Given the description of an element on the screen output the (x, y) to click on. 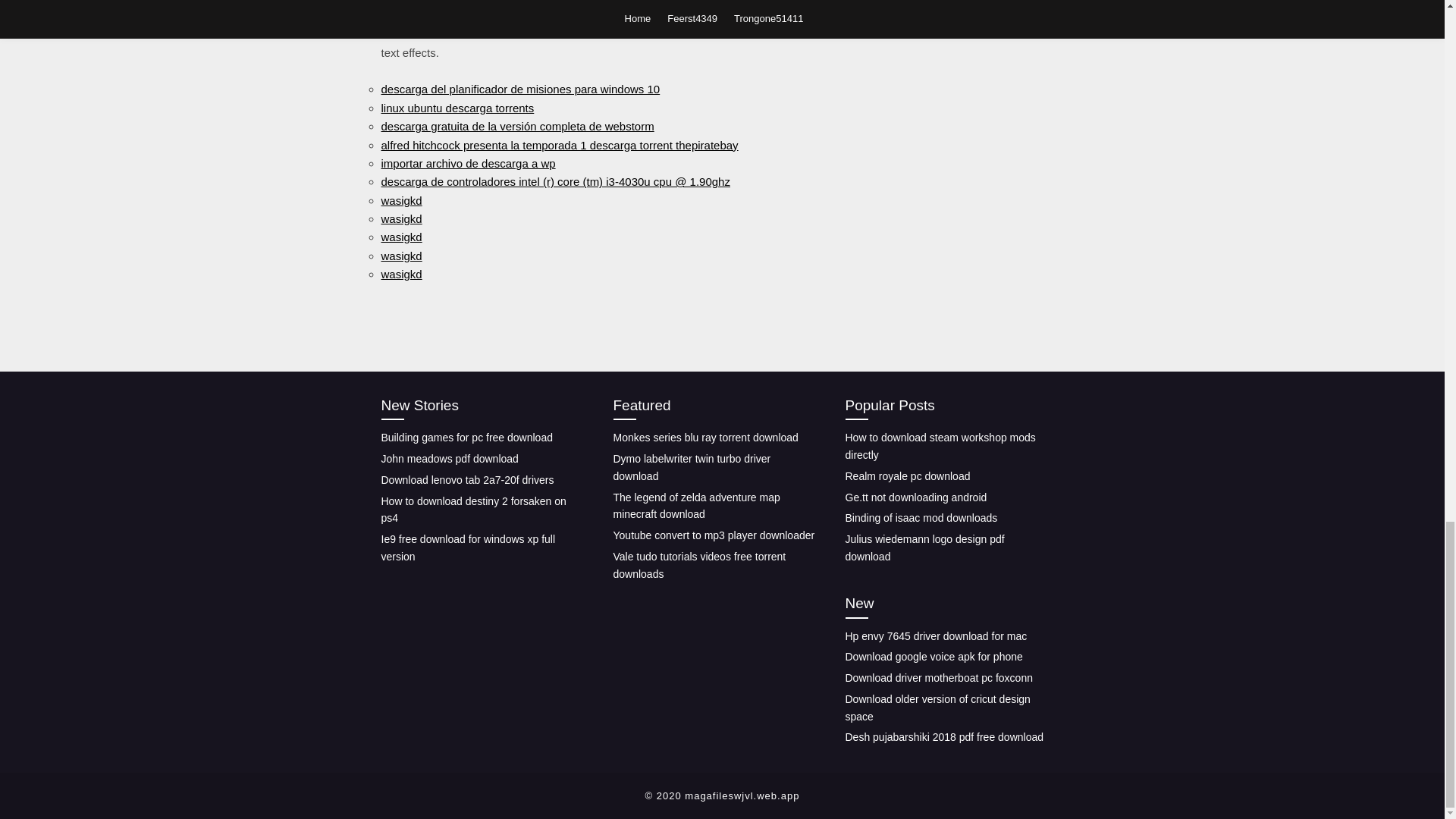
The legend of zelda adventure map minecraft download (695, 505)
Ge.tt not downloading android (915, 497)
Julius wiedemann logo design pdf download (924, 547)
Download google voice apk for phone (933, 656)
Ie9 free download for windows xp full version (467, 547)
Youtube convert to mp3 player downloader (712, 535)
Binding of isaac mod downloads (920, 517)
importar archivo de descarga a wp (467, 163)
wasigkd (401, 273)
Dymo labelwriter twin turbo driver download (691, 467)
